Given the description of an element on the screen output the (x, y) to click on. 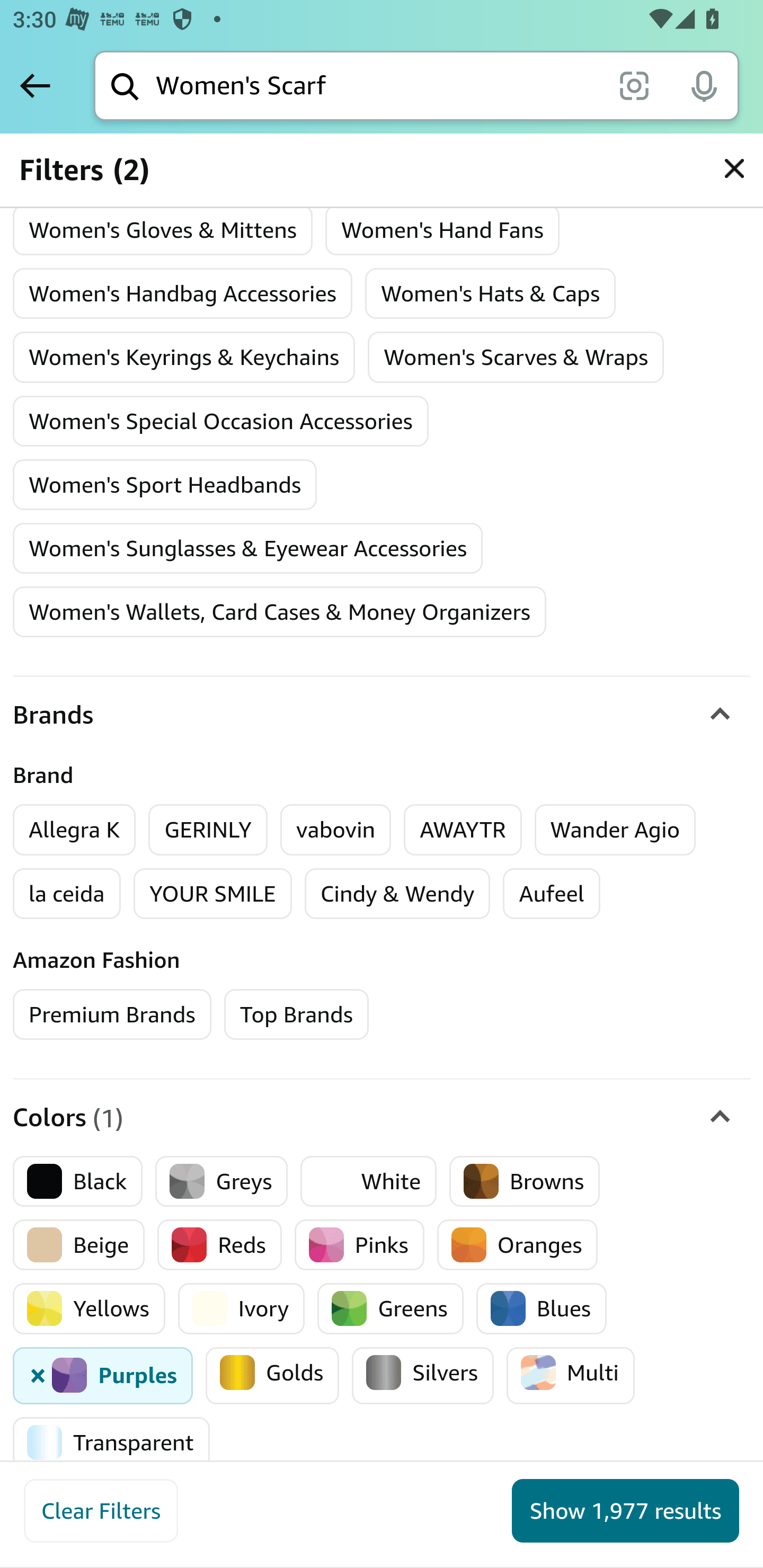
Back (35, 85)
scan it (633, 85)
Women's Gloves & Mittens (162, 229)
Women's Hand Fans (441, 229)
Women's Handbag Accessories (182, 292)
Women's Hats & Caps (489, 292)
Women's Keyrings & Keychains (184, 356)
Women's Scarves & Wraps (515, 356)
Women's Special Occasion Accessories (220, 419)
Women's Sport Headbands (165, 484)
Women's Sunglasses & Eyewear Accessories (247, 548)
Women's Wallets, Card Cases & Money Organizers (279, 612)
Brands (381, 715)
Allegra K (74, 830)
GERINLY (208, 830)
vabovin (336, 830)
AWAYTR (462, 830)
Wander Agio (614, 830)
la ceida (66, 893)
YOUR SMILE (211, 893)
Cindy & Wendy (397, 893)
Aufeel (551, 893)
Premium Brands (111, 1014)
Top Brands (295, 1014)
Colors (1) (381, 1117)
Black Black Black Black (77, 1181)
Greys Greys Greys Greys (221, 1181)
White White White White (368, 1181)
Browns Browns Browns Browns (524, 1181)
Beige Beige Beige Beige (79, 1244)
Reds Reds Reds Reds (220, 1244)
Pinks Pinks Pinks Pinks (358, 1244)
Oranges Oranges Oranges Oranges (516, 1244)
Yellows Yellows Yellows Yellows (88, 1308)
Ivory Ivory Ivory Ivory (240, 1308)
Greens Greens Greens Greens (389, 1308)
Blues Blues Blues Blues (541, 1308)
× Purples Purples × Purples Purples (102, 1374)
Golds Golds Golds Golds (272, 1374)
Silvers Silvers Silvers Silvers (422, 1374)
Multi Multi Multi Multi (570, 1374)
Transparent Transparent Transparent Transparent (110, 1441)
Clear Filters (100, 1510)
Show 1,977 results (625, 1510)
